Given the description of an element on the screen output the (x, y) to click on. 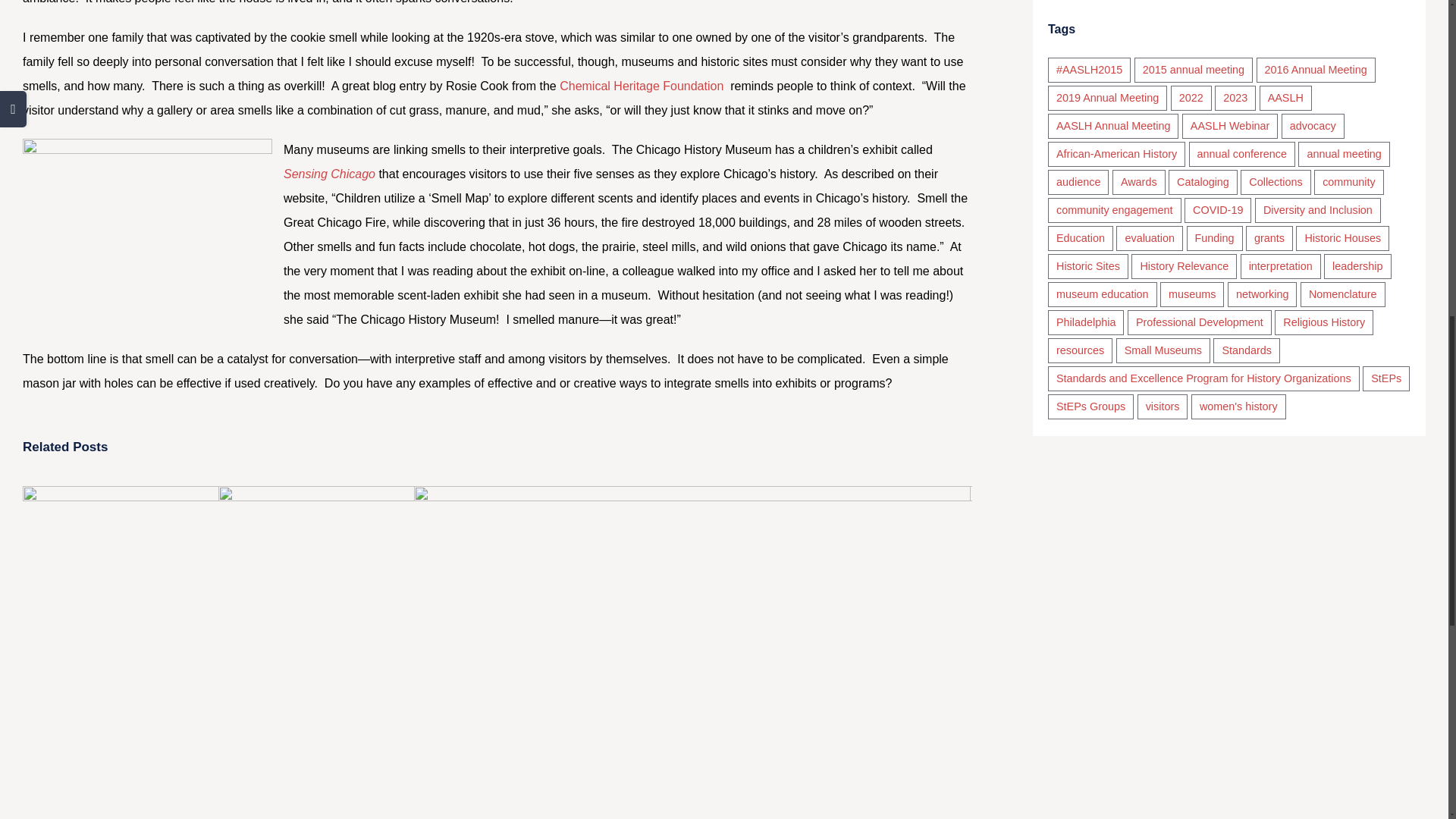
The Chemical Heritage Foundation (642, 85)
Sensing Chicago exhibit at Chicago History Museum (329, 173)
